Given the description of an element on the screen output the (x, y) to click on. 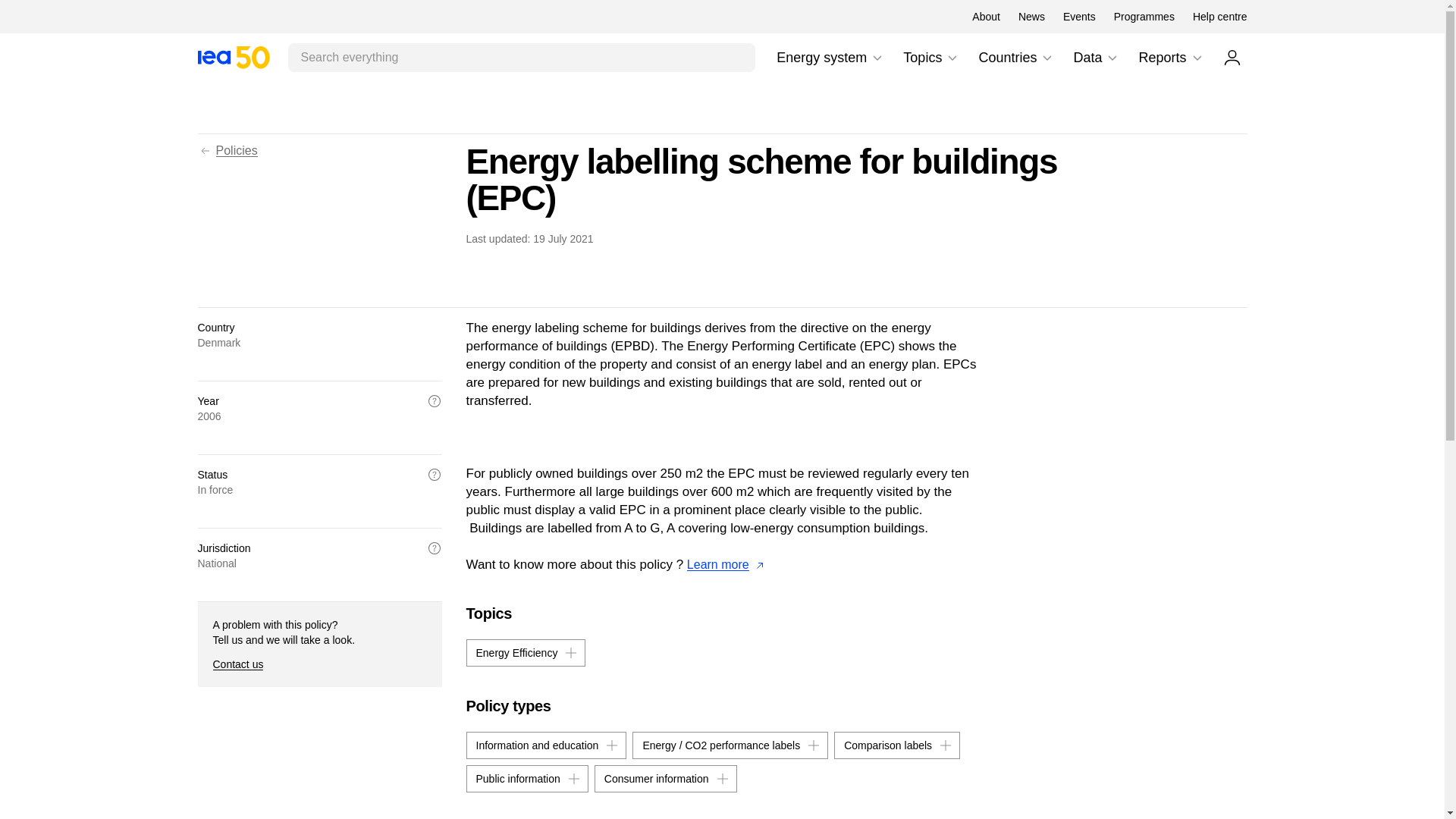
About (986, 16)
Events (1079, 16)
User Profile (1231, 57)
Chevron down (877, 57)
return (204, 150)
Help centre (1219, 16)
Chevron down (830, 57)
News (951, 57)
Programmes (1031, 16)
Chevron down (1143, 16)
IEA (1196, 57)
IEA (232, 56)
Chevron down (232, 56)
Chevron down (1046, 57)
